Given the description of an element on the screen output the (x, y) to click on. 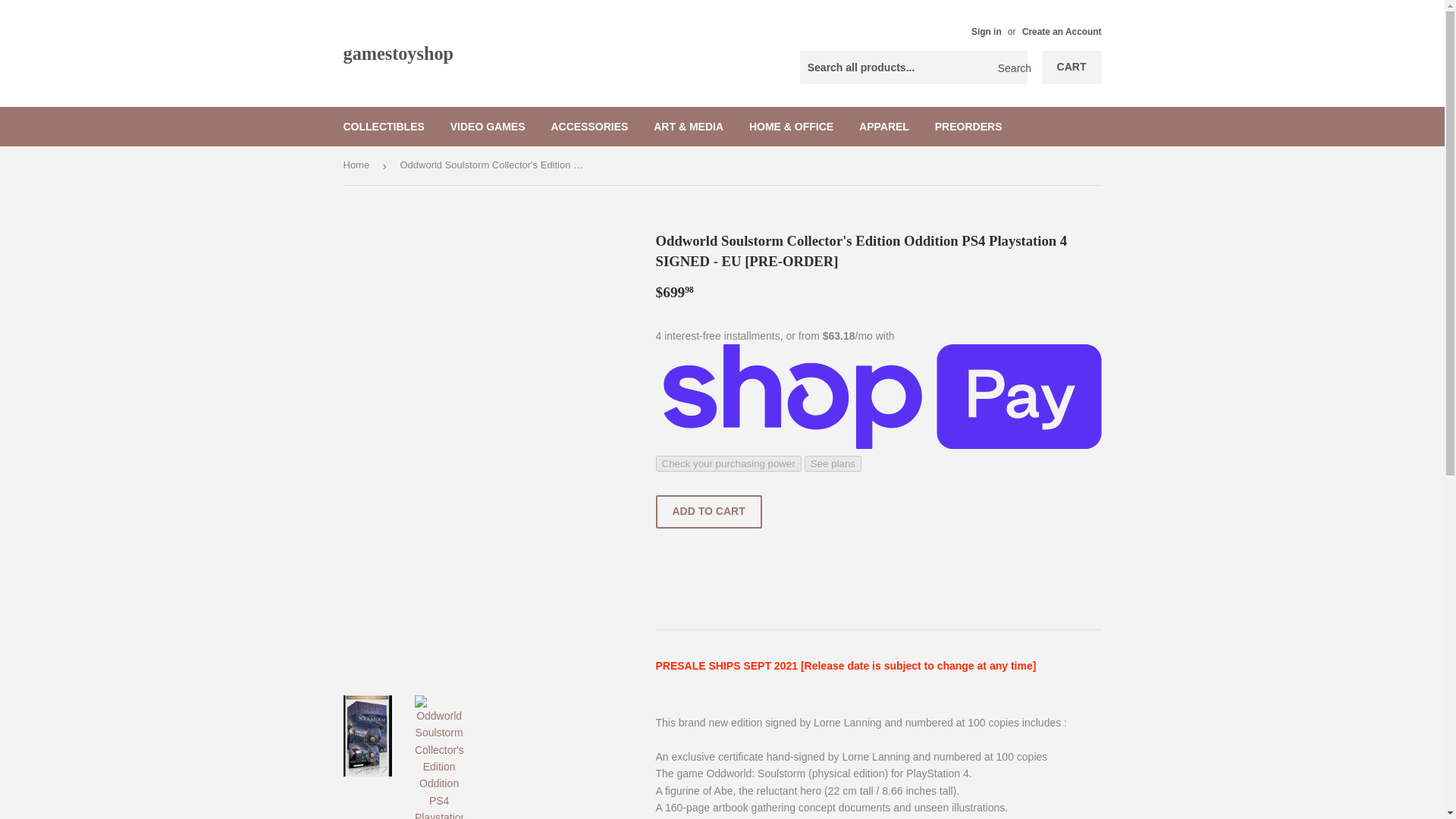
Create an Account (1062, 31)
CART (1072, 67)
Sign in (986, 31)
gamestoyshop (532, 53)
Search (1009, 68)
